Given the description of an element on the screen output the (x, y) to click on. 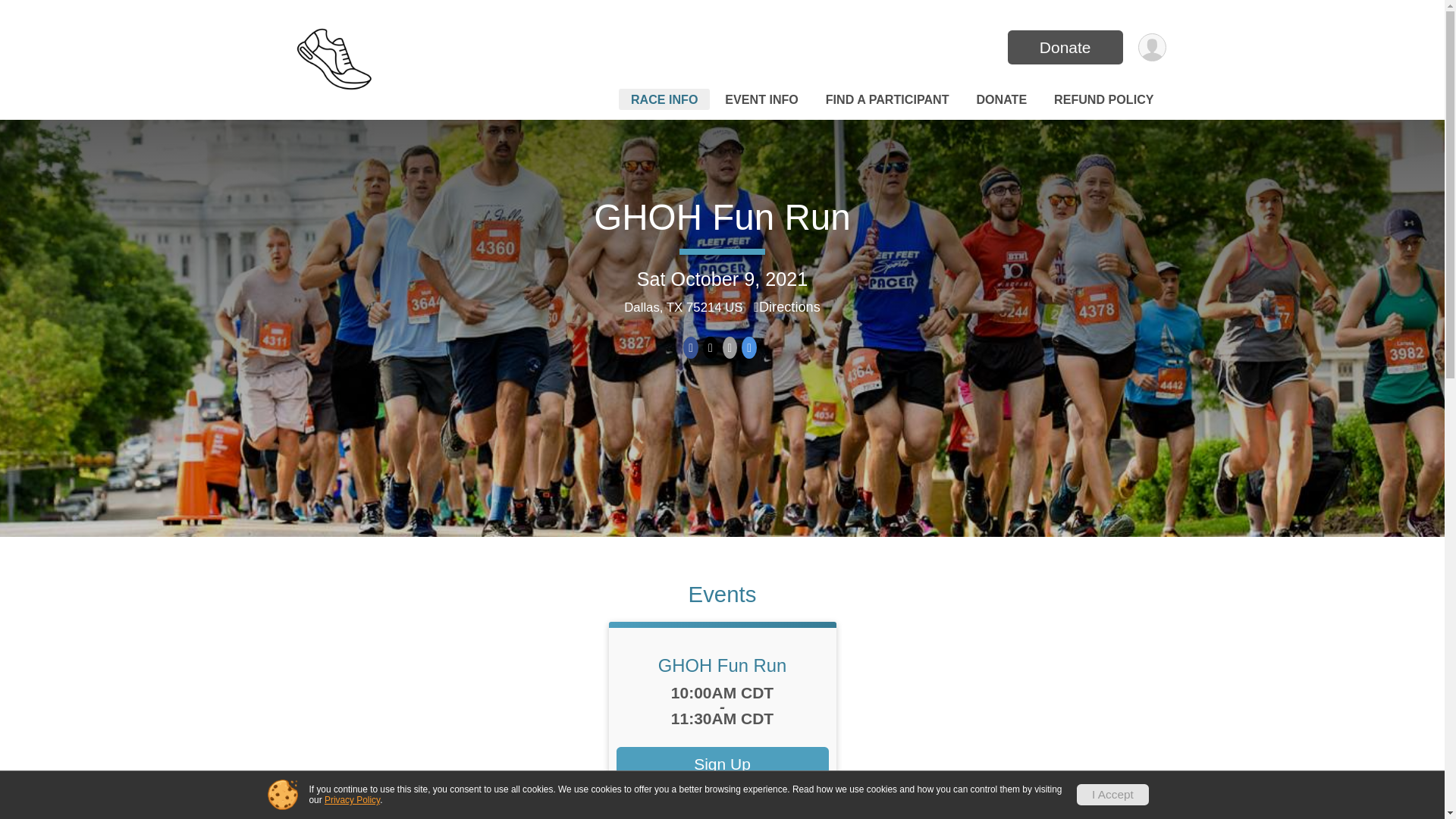
REFUND POLICY (1103, 98)
RACE INFO (664, 98)
Directions (787, 306)
FIND A PARTICIPANT (887, 98)
GHOH Fun Run (722, 665)
DONATE (1000, 98)
Sign Up (721, 763)
Donate (1064, 47)
GHOH Fun Run (722, 217)
EVENT INFO (761, 98)
